Given the description of an element on the screen output the (x, y) to click on. 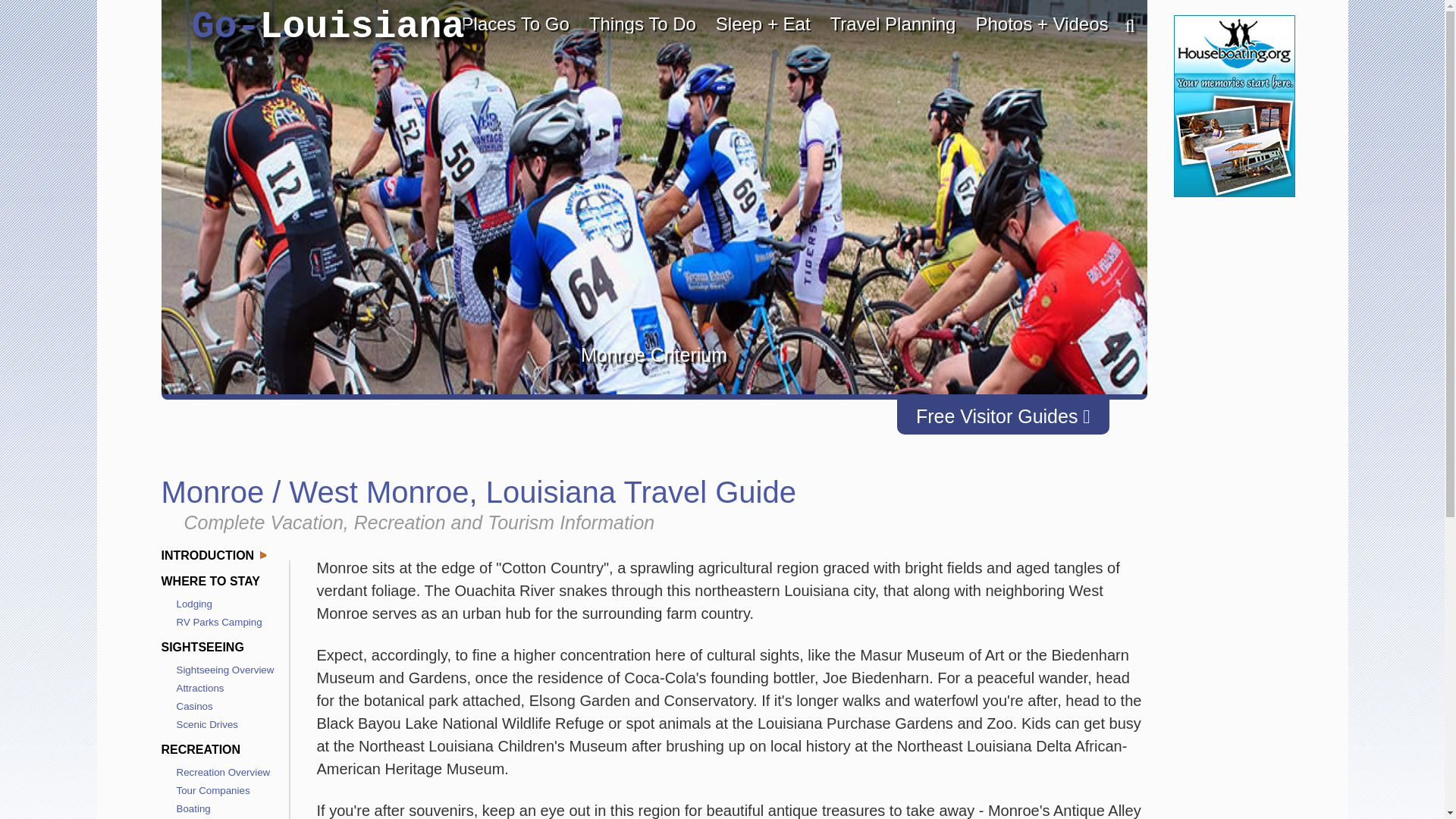
Search Here (1122, 26)
Things To Do (643, 24)
go-louisiana.com (327, 27)
Places To Go (515, 24)
Go-Louisiana (327, 27)
Search Here (1122, 26)
